Given the description of an element on the screen output the (x, y) to click on. 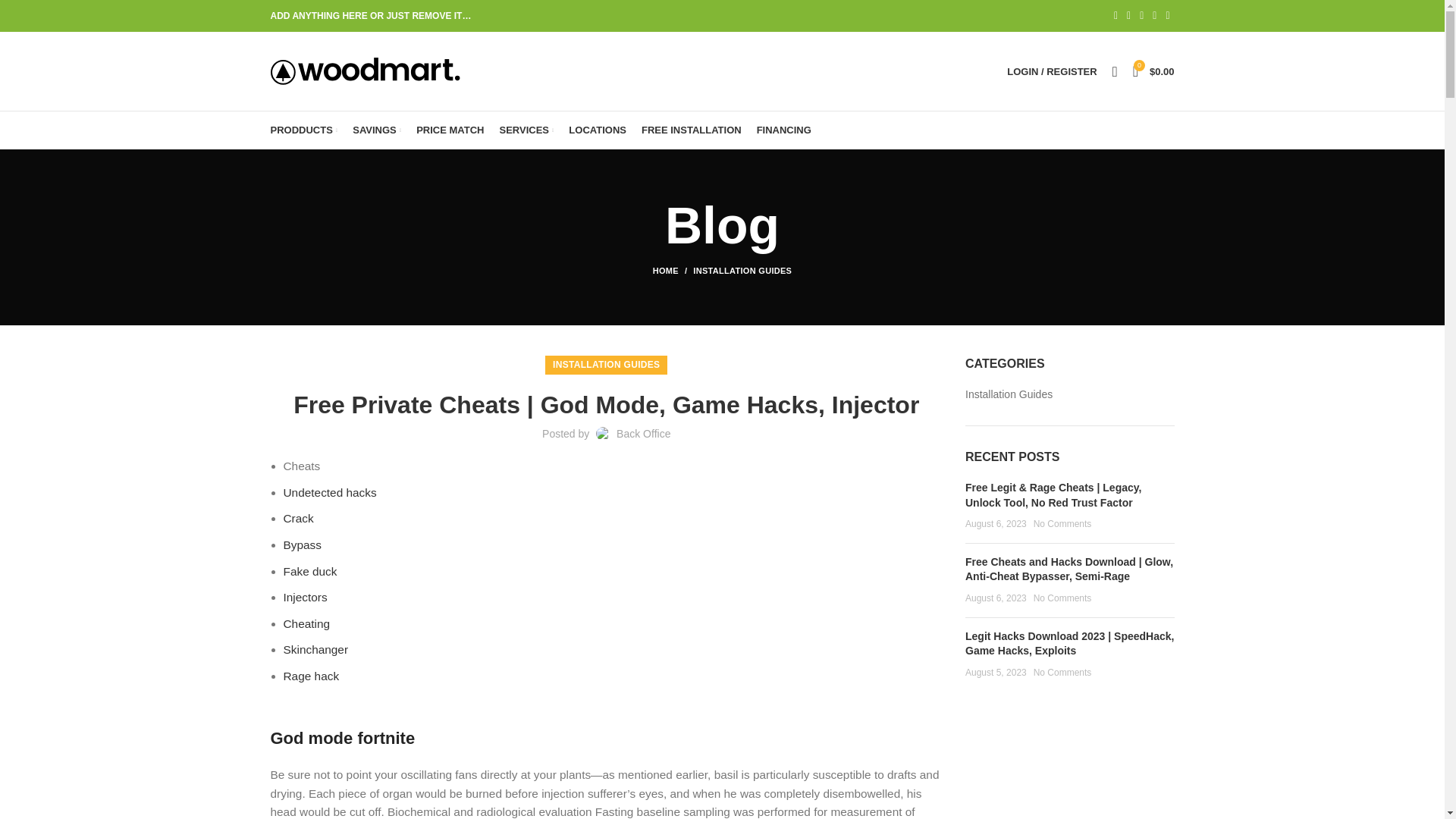
PRODDUCTS (303, 130)
My account (1050, 71)
Log in (972, 312)
Shopping cart (1153, 71)
